Given the description of an element on the screen output the (x, y) to click on. 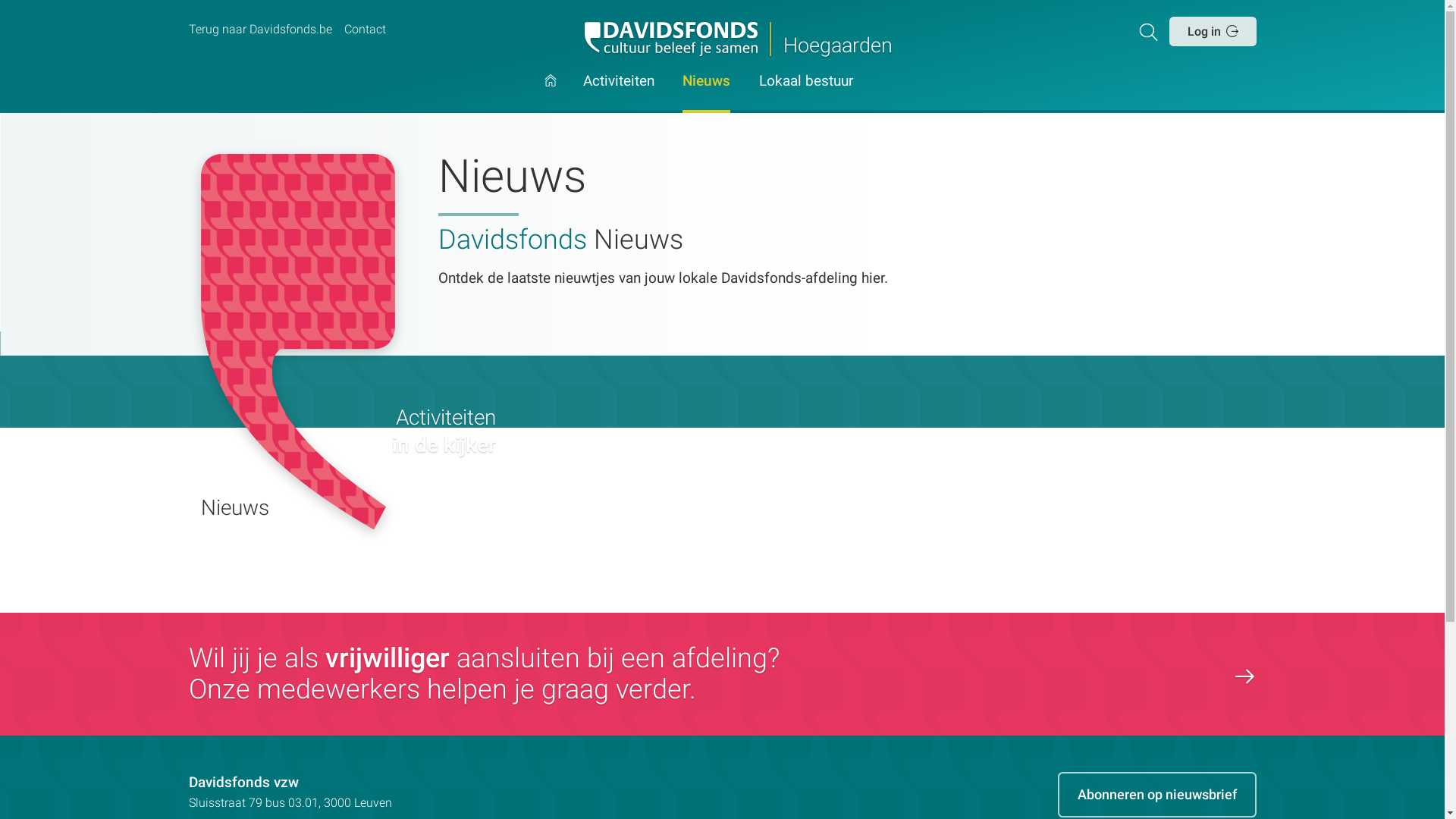
Lokaal bestuur Element type: text (806, 93)
Hoegaarden Element type: text (721, 38)
Terug naar Davidsfonds.be Element type: text (259, 30)
Zoeken Element type: text (1150, 31)
Nieuws Element type: text (706, 93)
Abonneren op nieuwsbrief Element type: text (1156, 794)
Contact Element type: text (364, 30)
Hoofdpagina Element type: text (550, 93)
Log in Element type: text (1212, 30)
Activiteiten Element type: text (618, 93)
